Given the description of an element on the screen output the (x, y) to click on. 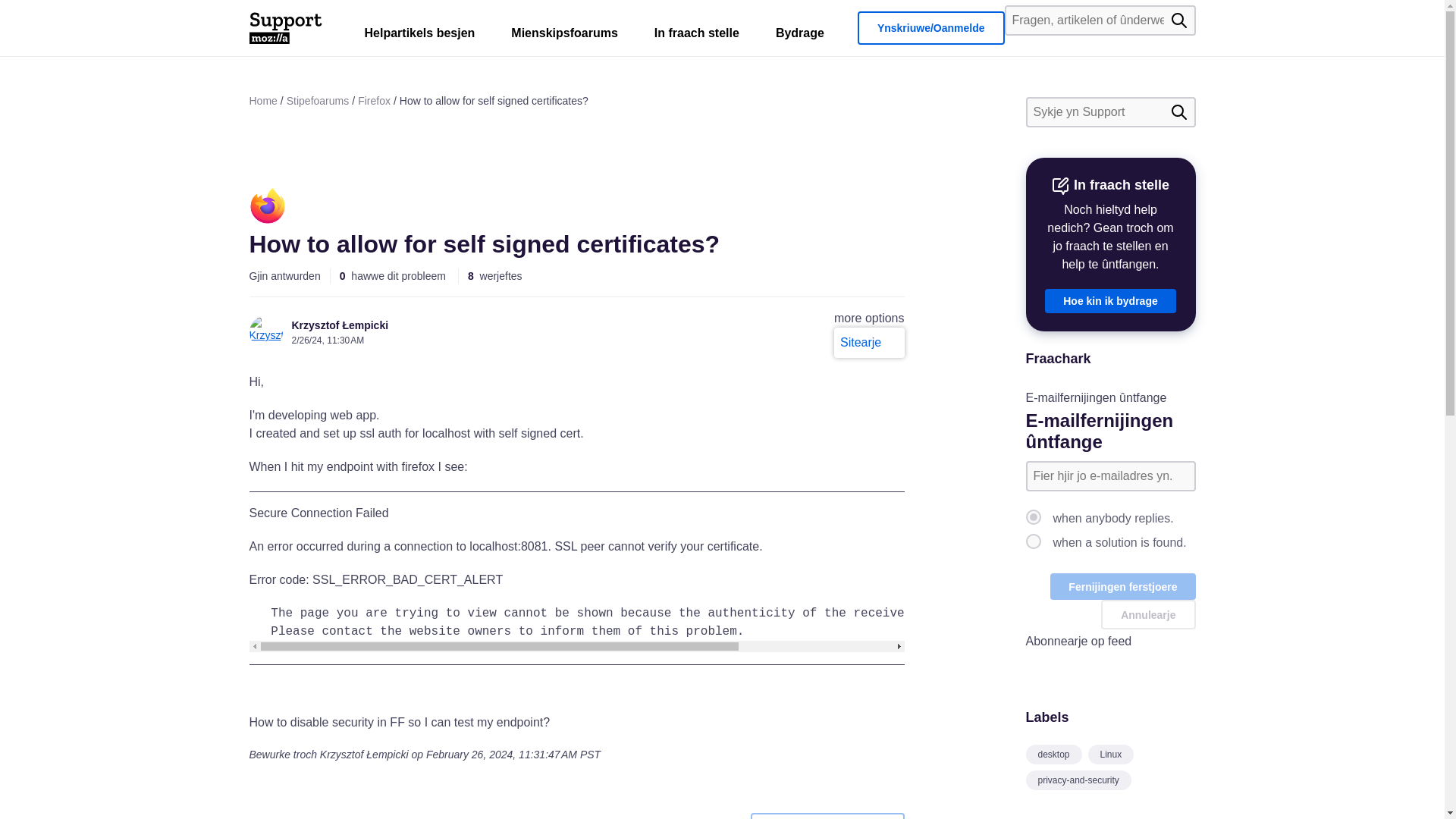
Helpartikels besjen (419, 37)
Sykje (1178, 111)
Fernijingen ferstjoere (1122, 586)
Mienskipsfoarums (563, 37)
Sykje (1178, 20)
In fraach stelle (696, 37)
